Given the description of an element on the screen output the (x, y) to click on. 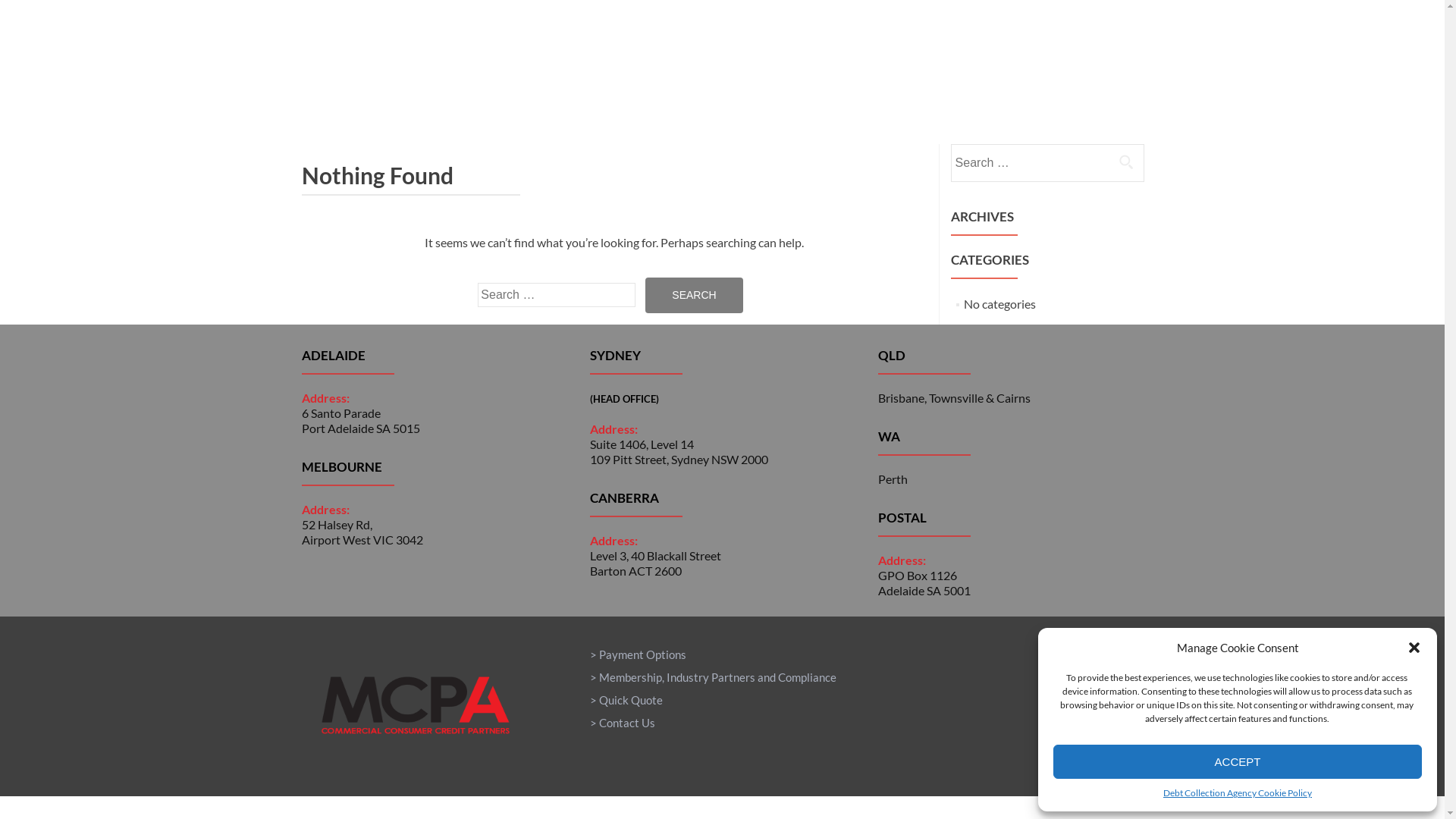
> Payment Options Element type: text (637, 654)
LinkedIn Element type: hover (1146, 729)
> Quick Quote Element type: text (625, 699)
> Contact Us Element type: text (622, 722)
Debt Collection Agency Cookie Policy Element type: text (1237, 793)
Search Element type: text (1125, 161)
> Membership, Industry Partners and Compliance Element type: text (712, 677)
ACCEPT Element type: text (1237, 761)
Search Element type: text (693, 295)
